Given the description of an element on the screen output the (x, y) to click on. 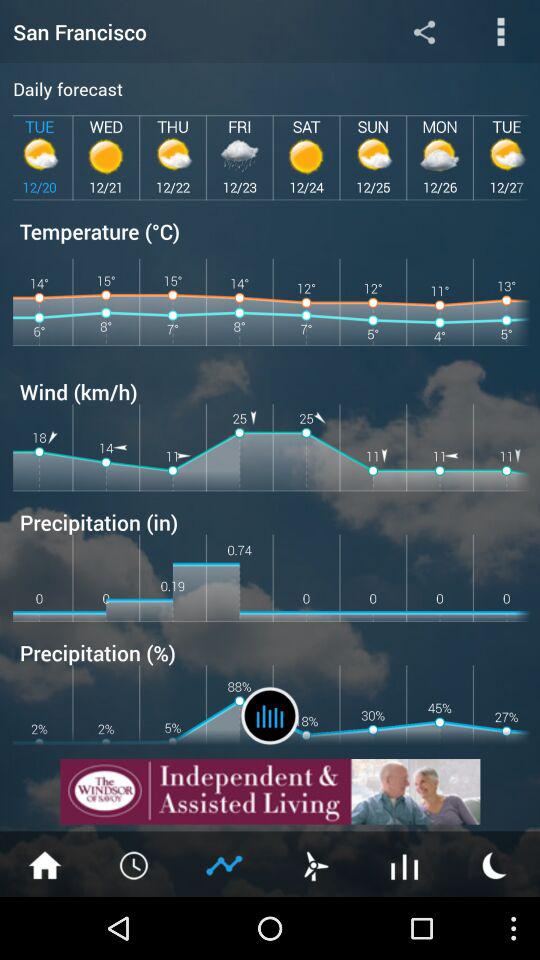
setting (424, 31)
